Given the description of an element on the screen output the (x, y) to click on. 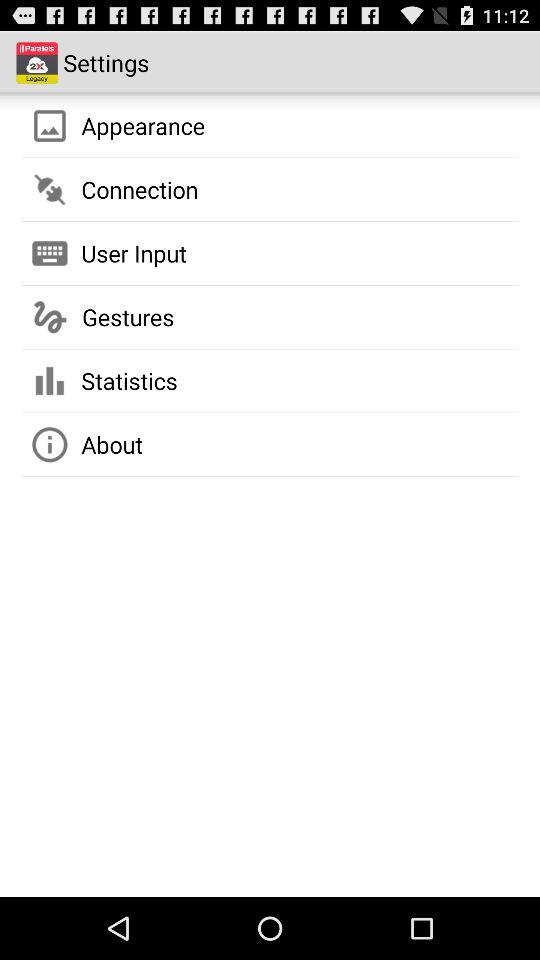
press connection (139, 189)
